Given the description of an element on the screen output the (x, y) to click on. 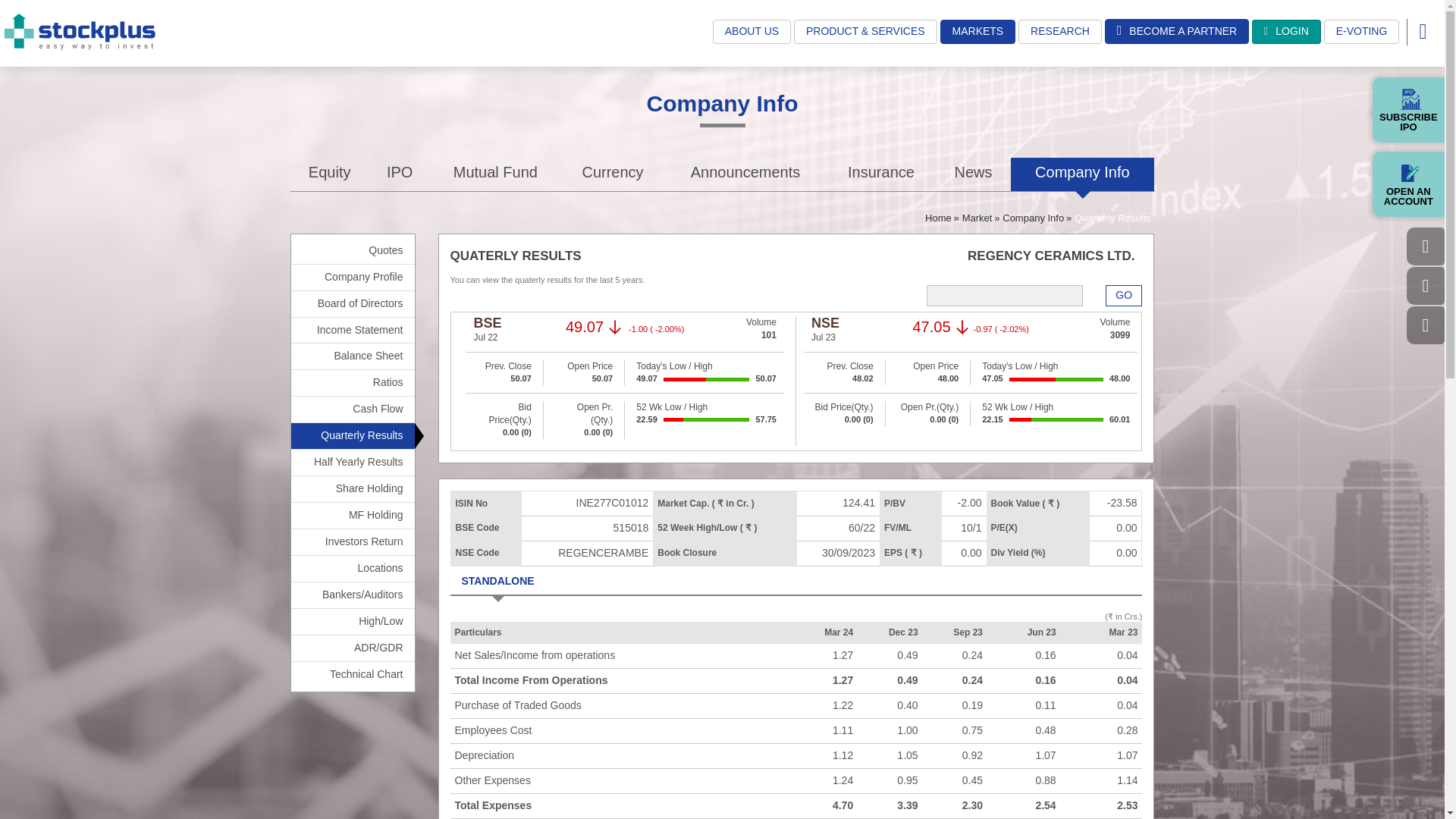
IPO (399, 174)
Company Info (1082, 174)
Insurance (881, 174)
Equity (329, 174)
Mutual Fund (494, 174)
SUBSCRIBE IPO (1408, 109)
Announcements (746, 174)
MARKETS (978, 31)
E-VOTING (1361, 31)
News (973, 174)
BECOME A PARTNER (1177, 31)
RESEARCH (1059, 31)
OPEN AN ACCOUNT (1408, 184)
LOGIN (1286, 31)
ABOUT US (751, 31)
